Given the description of an element on the screen output the (x, y) to click on. 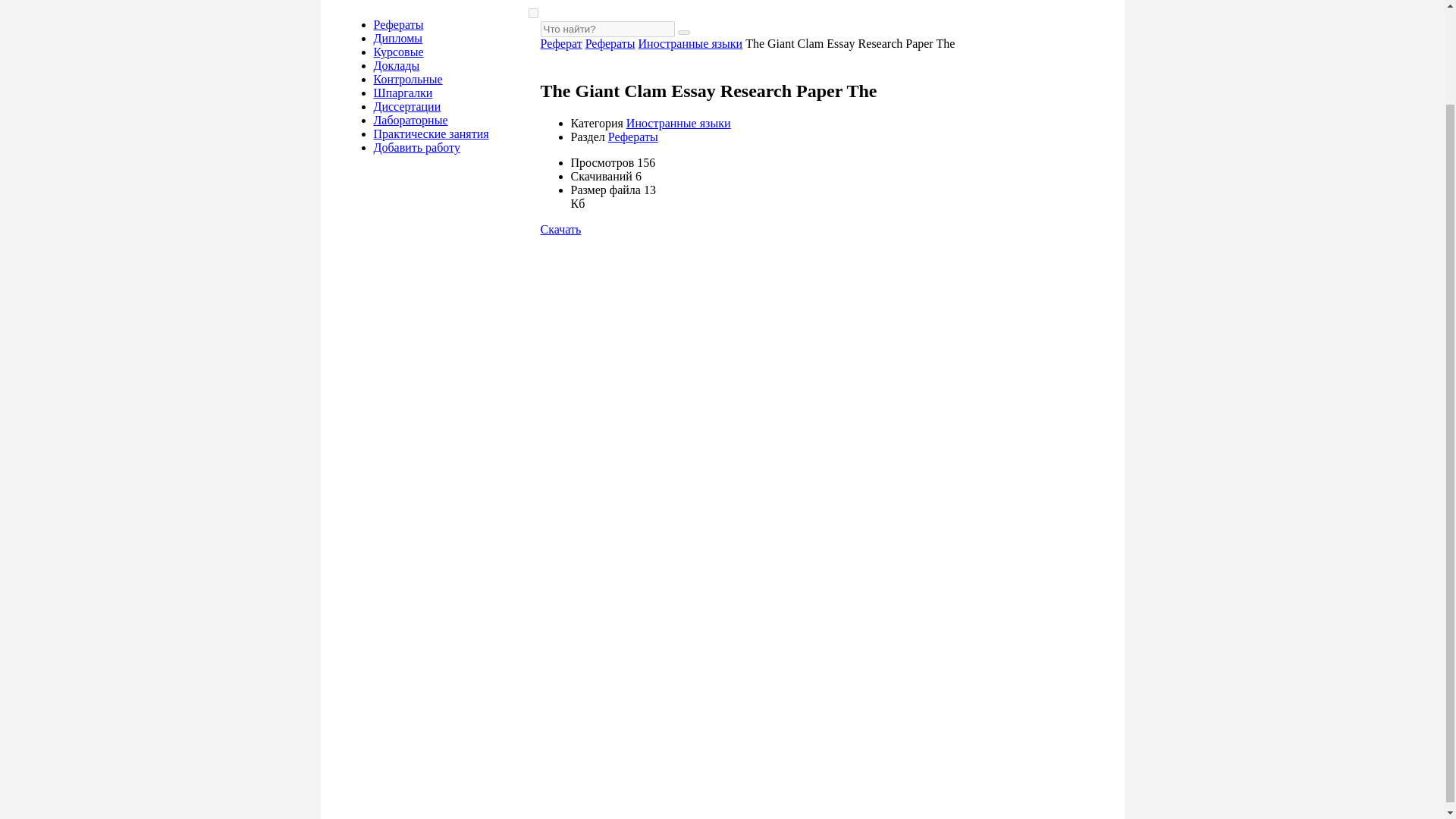
on (532, 13)
